Given the description of an element on the screen output the (x, y) to click on. 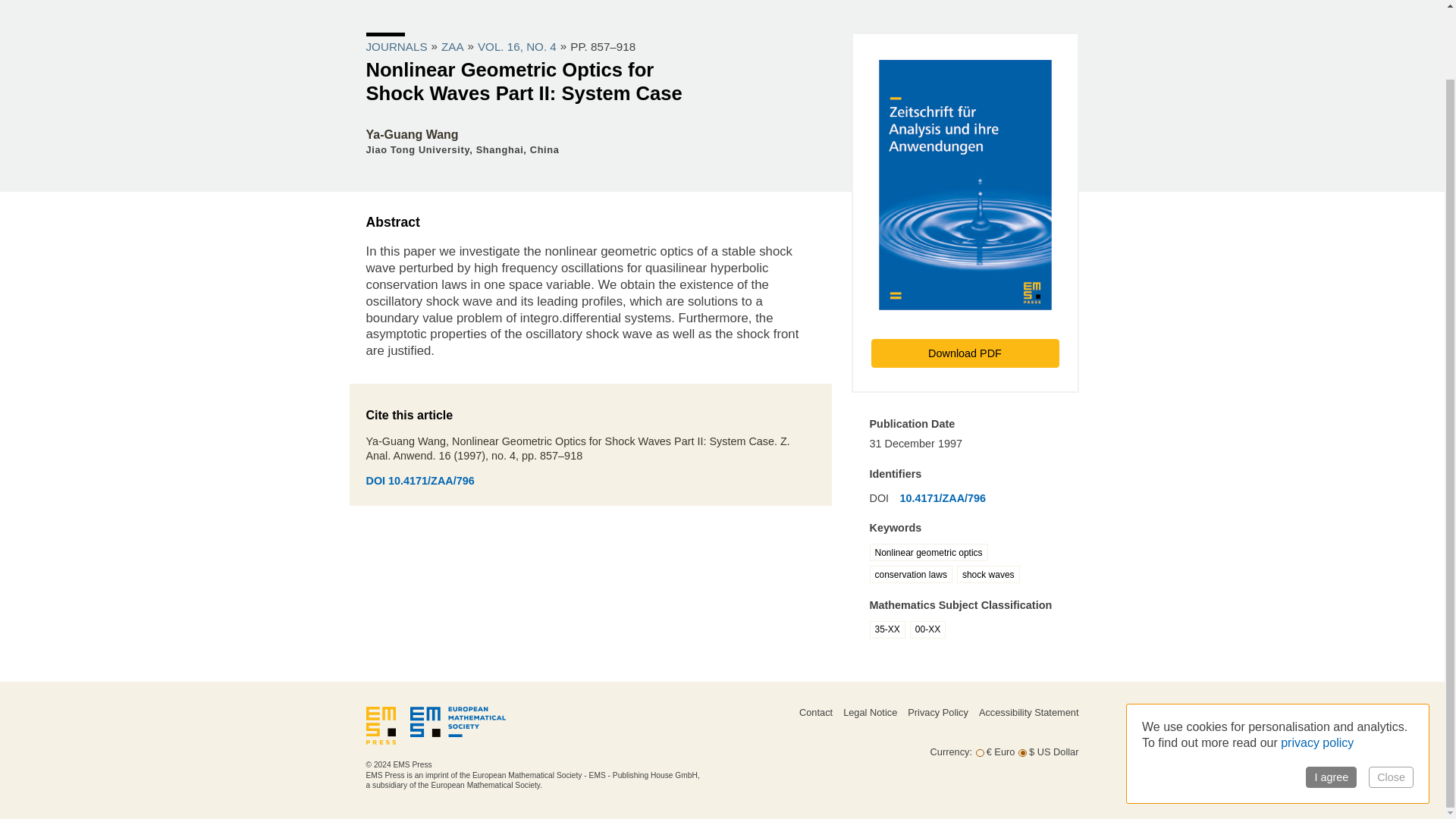
EUR (979, 753)
Download PDF (964, 353)
Main Navigation (721, 8)
Accessibility Statement (1028, 712)
USD (1021, 753)
Privacy Policy (937, 712)
ZAA (452, 46)
Contact (815, 712)
JOURNALS (395, 46)
Close (1390, 700)
